Given the description of an element on the screen output the (x, y) to click on. 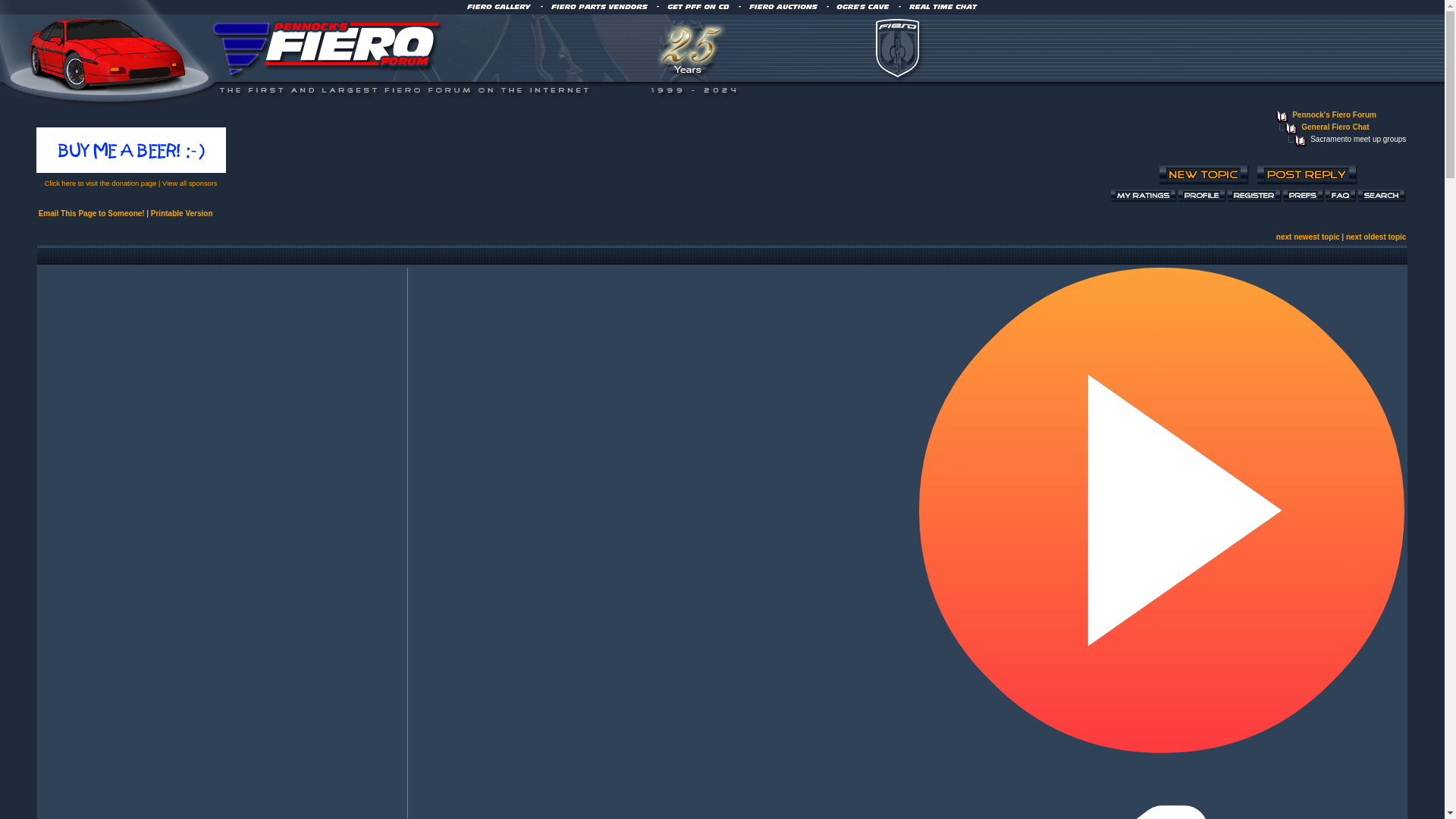
next oldest topic (1375, 236)
Click here to visit the donation page (101, 183)
Email This Page to Someone! (91, 213)
Pennock's Fiero Forum (1333, 114)
next newest topic (1307, 236)
Printable Version (181, 213)
General Fiero Chat (1334, 126)
